Given the description of an element on the screen output the (x, y) to click on. 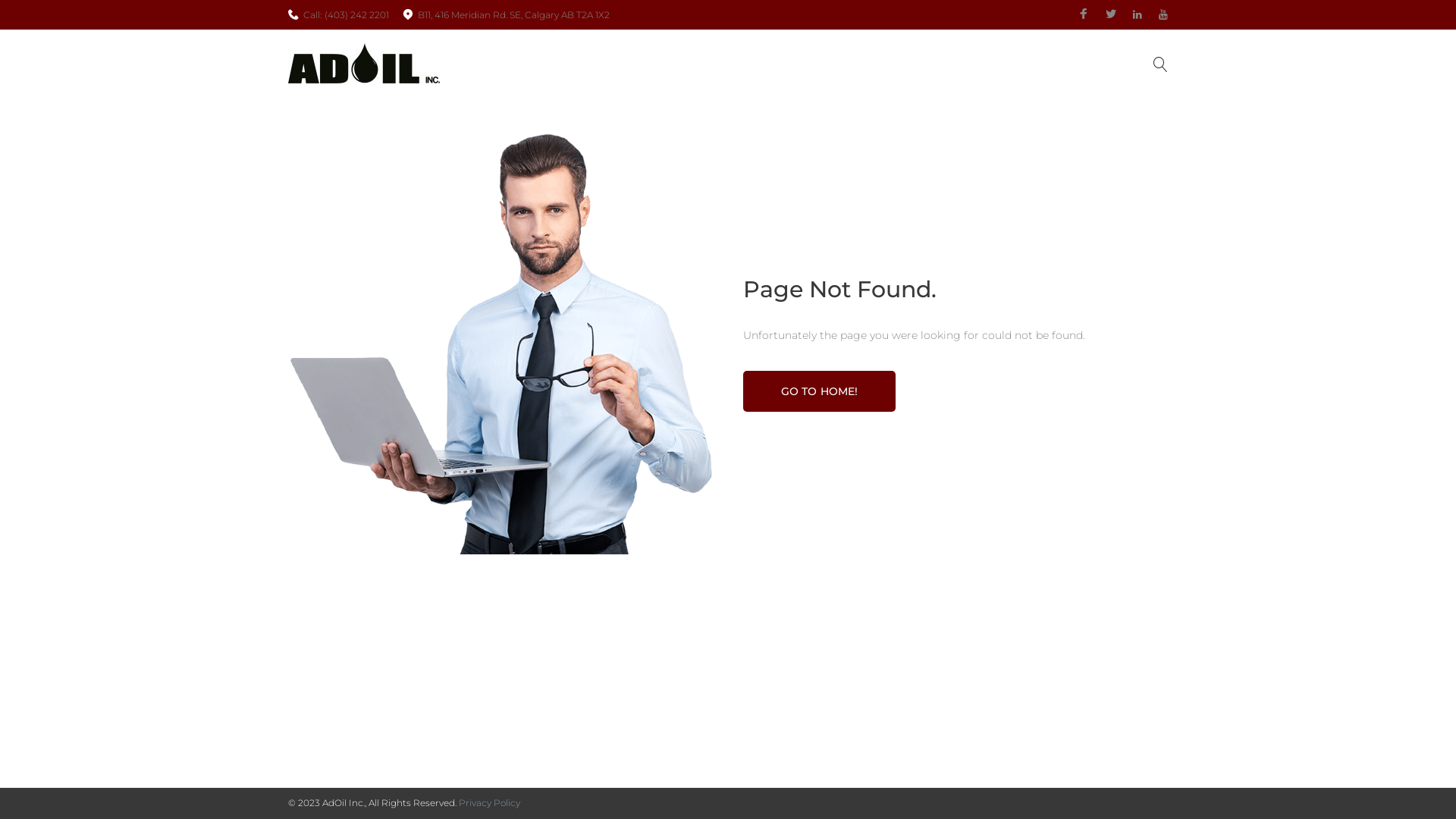
Privacy Policy Element type: text (489, 802)
(403) 242 2201 Element type: text (356, 15)
Youtube Element type: text (1162, 14)
Twitter Element type: text (1110, 14)
GO TO HOME! Element type: text (819, 390)
Facebook Element type: text (1083, 14)
LinkedIn Element type: text (1137, 14)
